Given the description of an element on the screen output the (x, y) to click on. 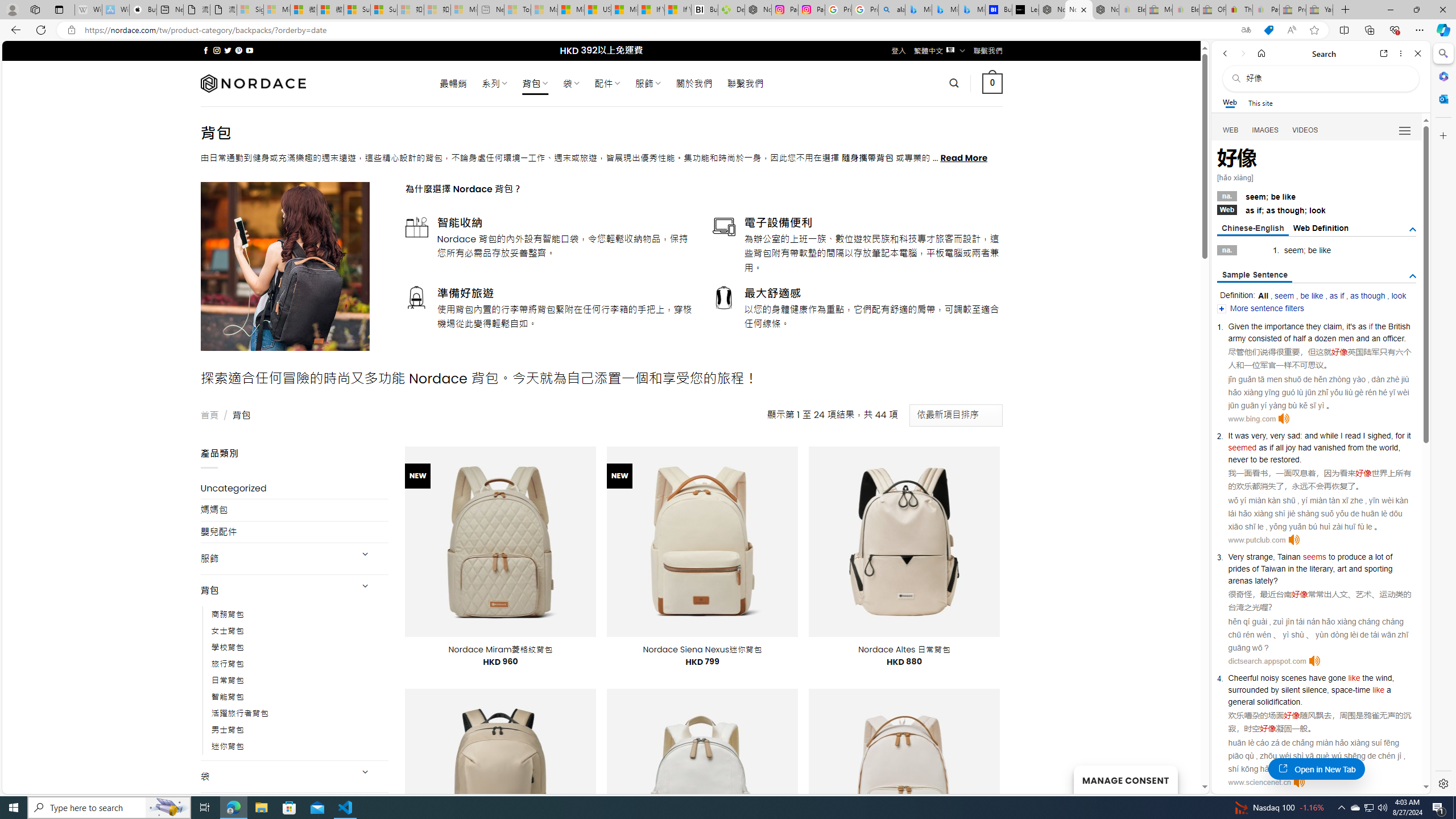
Follow on Twitter (227, 50)
British (1398, 325)
www.putclub.com (1256, 539)
as (1261, 447)
